Given the description of an element on the screen output the (x, y) to click on. 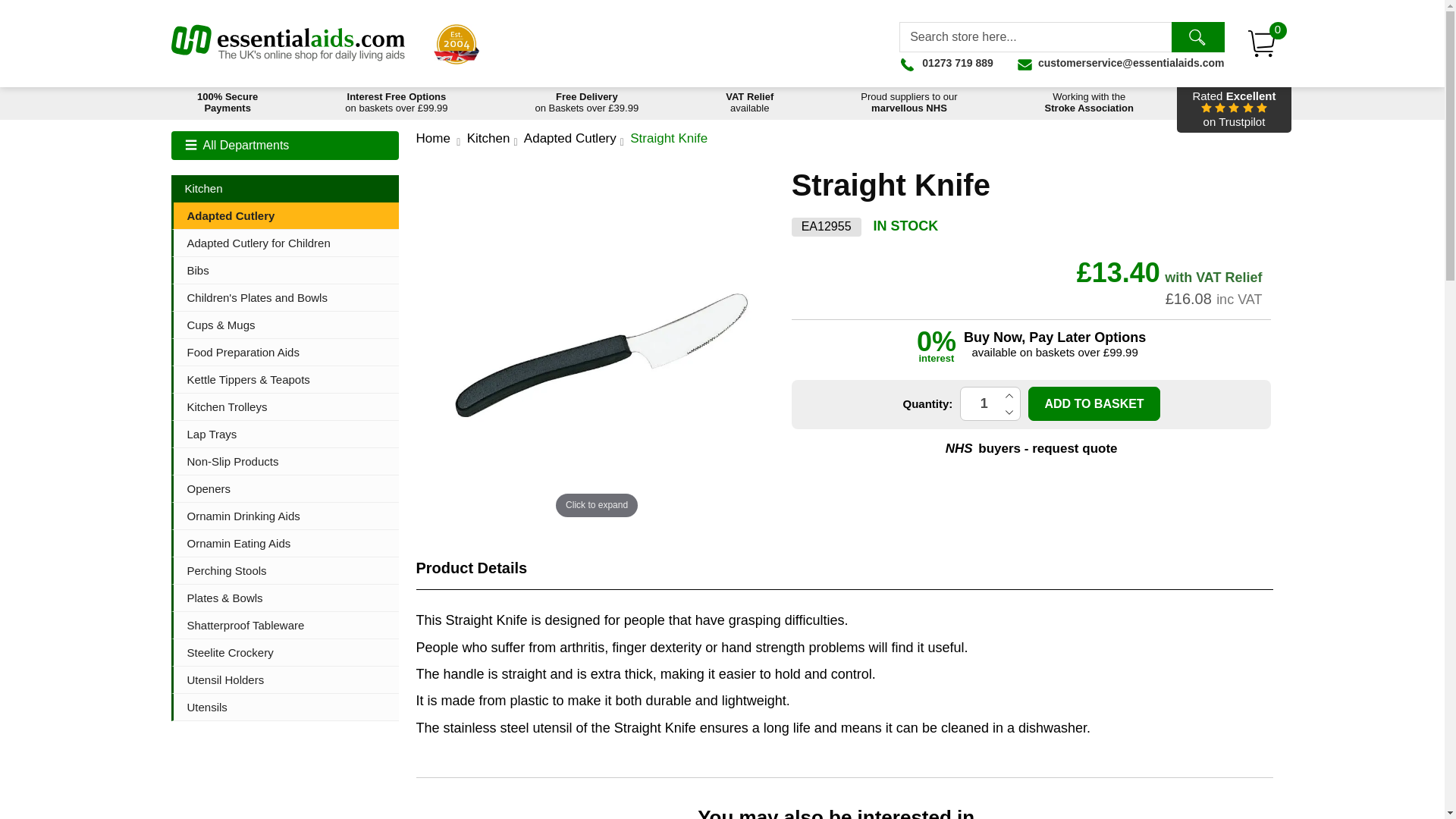
4.9 out of 5 (1233, 109)
Search (1197, 37)
0 (1262, 43)
Quantity: (989, 403)
Your Basket (1262, 43)
Availability (908, 102)
2004 est (906, 226)
Add to Basket (456, 43)
1 (1092, 403)
01273 719 889 (748, 102)
Go to Home Page (989, 403)
